Given the description of an element on the screen output the (x, y) to click on. 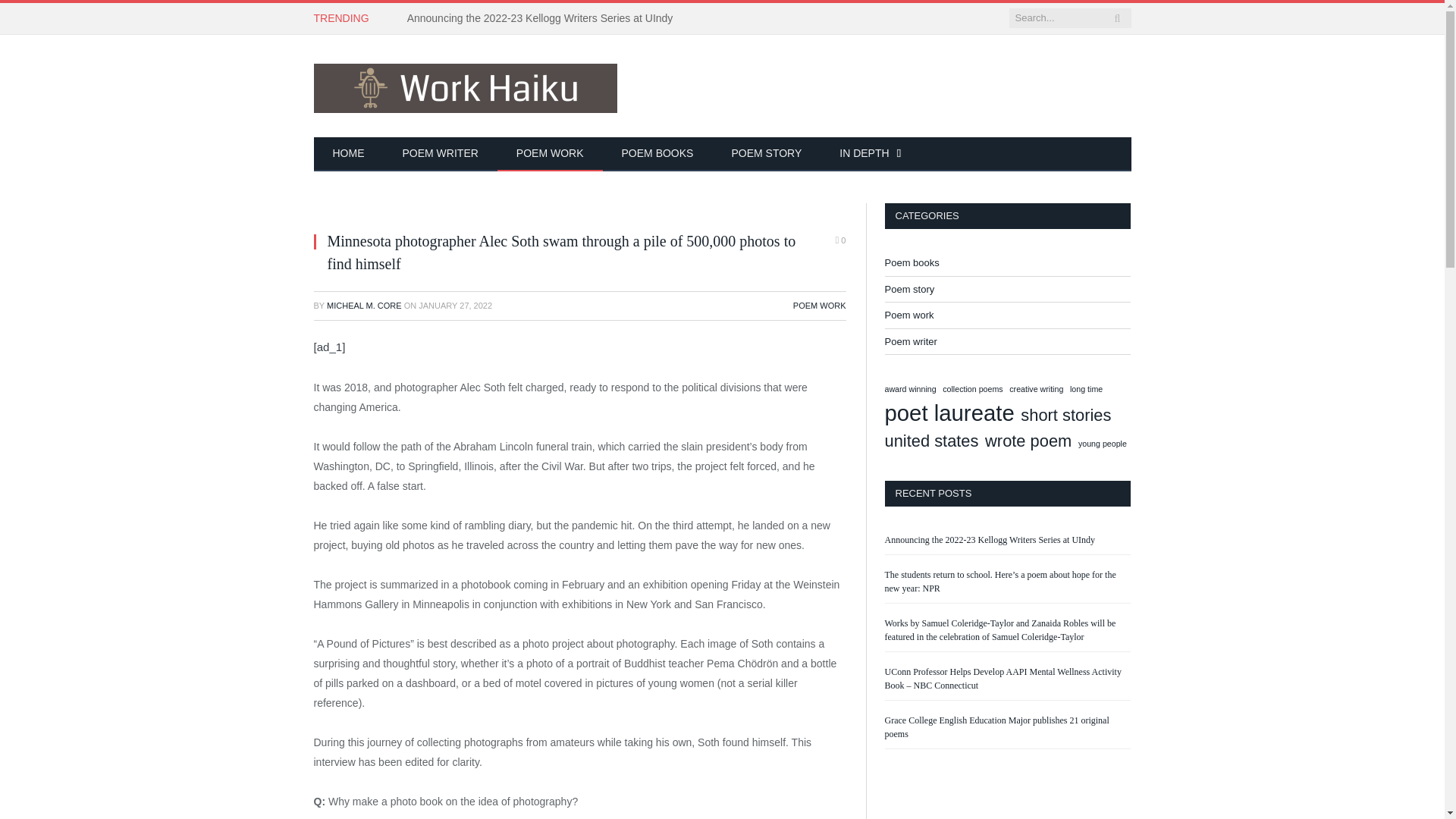
Poem writer (909, 340)
POEM WORK (819, 305)
long time (1086, 388)
POEM BOOKS (657, 154)
MICHEAL M. CORE (363, 305)
2022-01-27 (455, 305)
Poem story (908, 289)
Poem work (908, 314)
Poem books (911, 263)
